Given the description of an element on the screen output the (x, y) to click on. 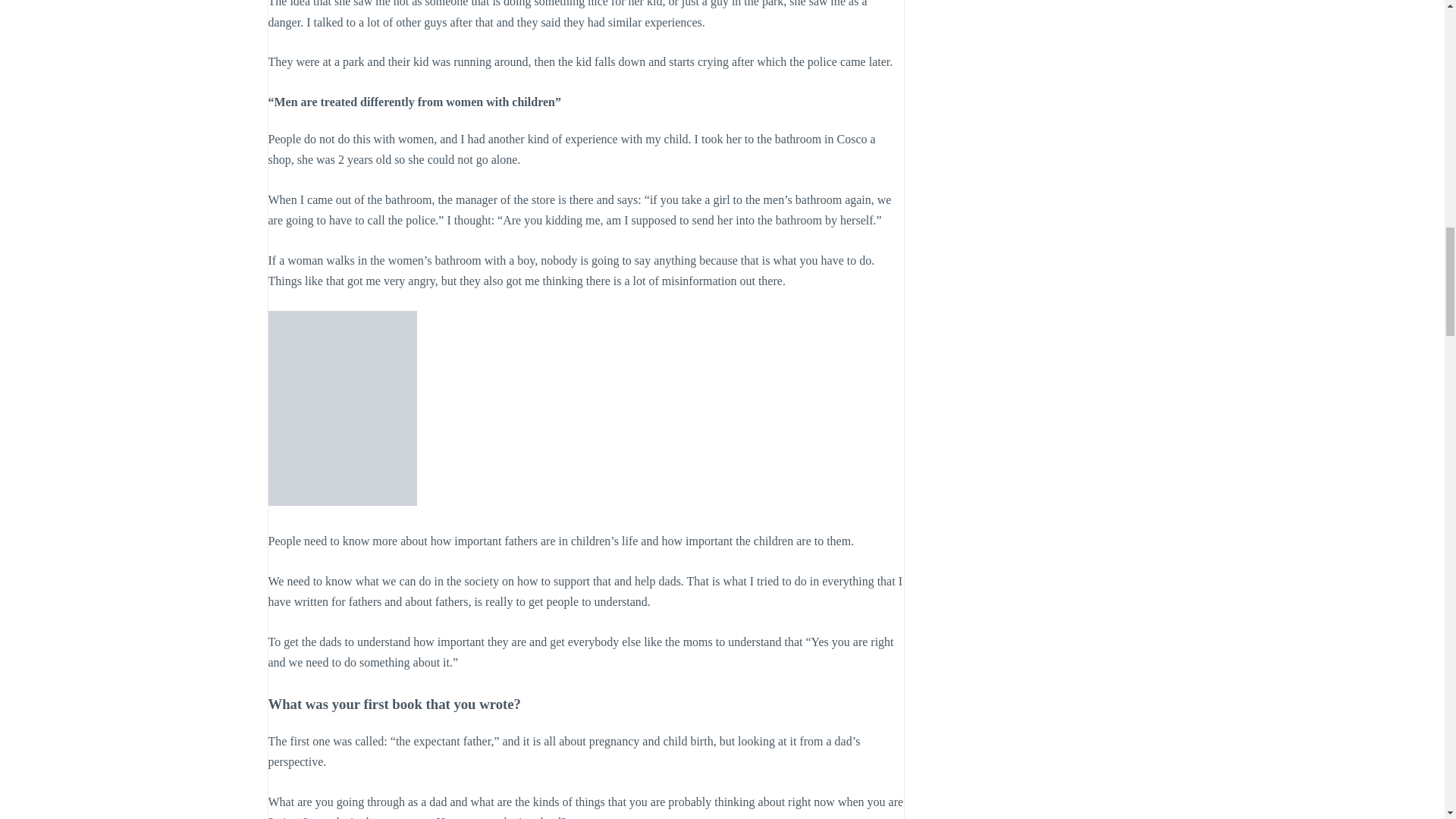
understand (620, 601)
